Given the description of an element on the screen output the (x, y) to click on. 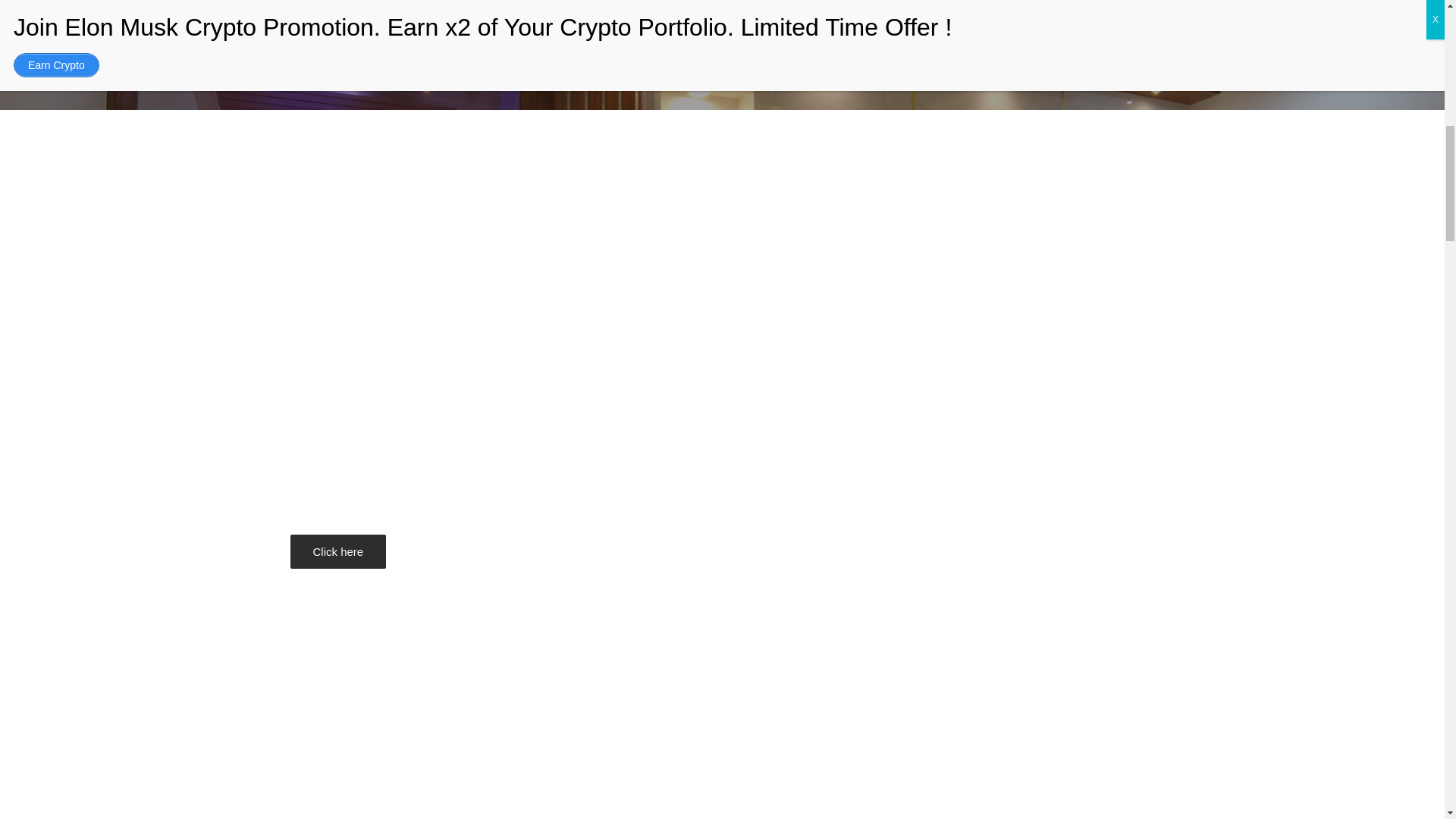
Click here (337, 551)
